Given the description of an element on the screen output the (x, y) to click on. 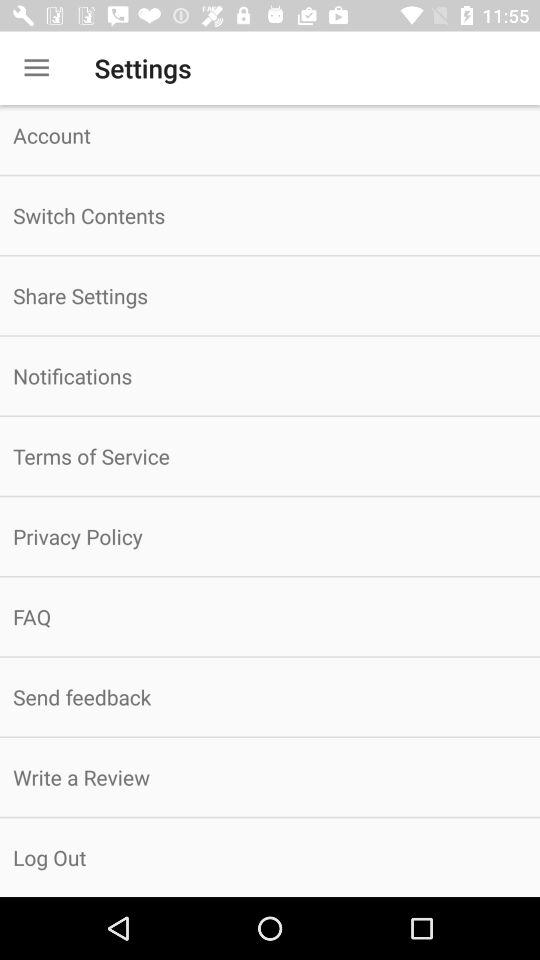
tap icon below faq (270, 696)
